Given the description of an element on the screen output the (x, y) to click on. 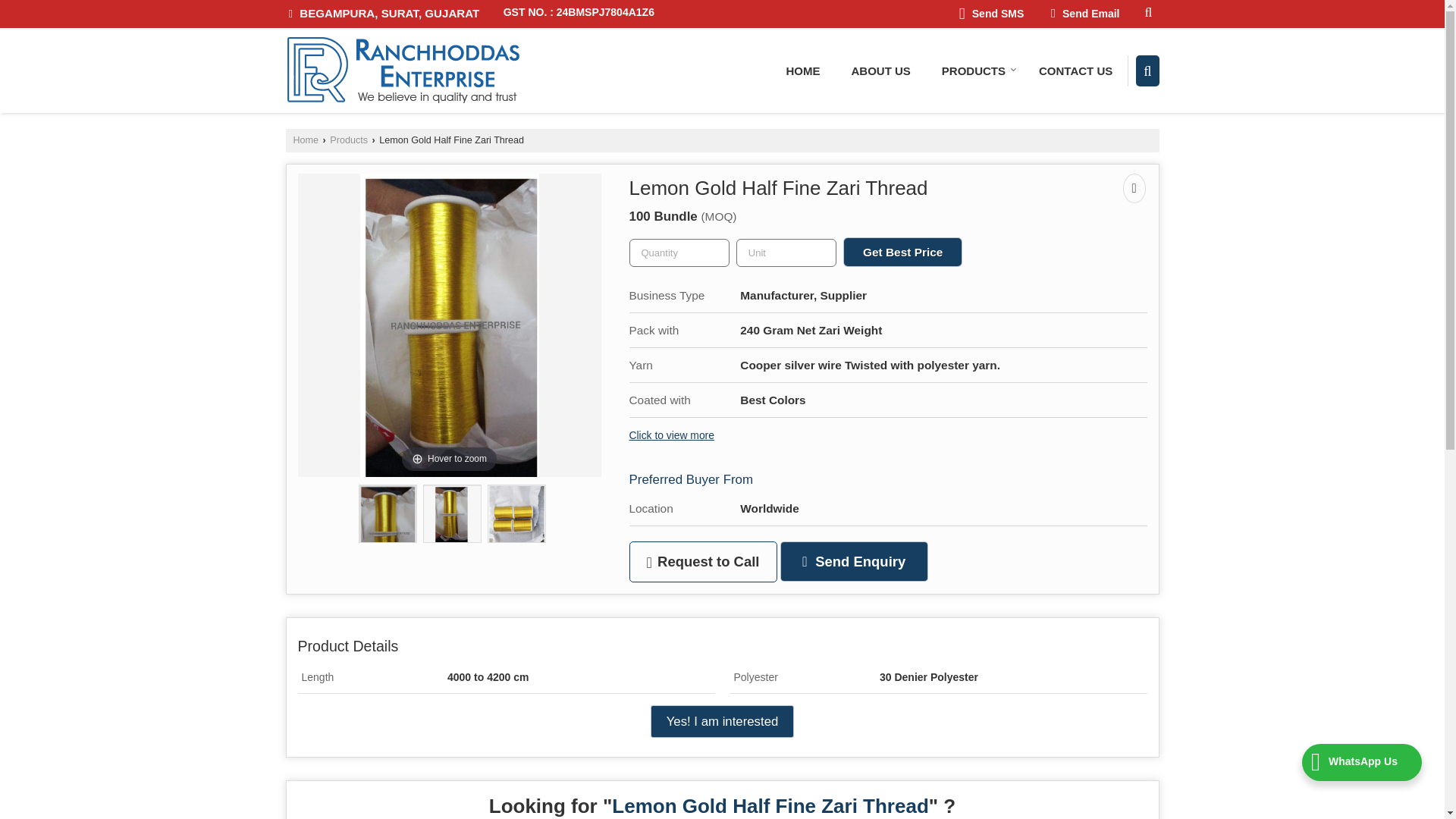
Products (349, 140)
Send SMS (991, 14)
Home (802, 69)
Get Best Price (902, 251)
Contact Us (1074, 69)
Send Email (1085, 14)
About Us (879, 69)
PRODUCTS (974, 69)
HOME (802, 69)
Home (305, 140)
